Given the description of an element on the screen output the (x, y) to click on. 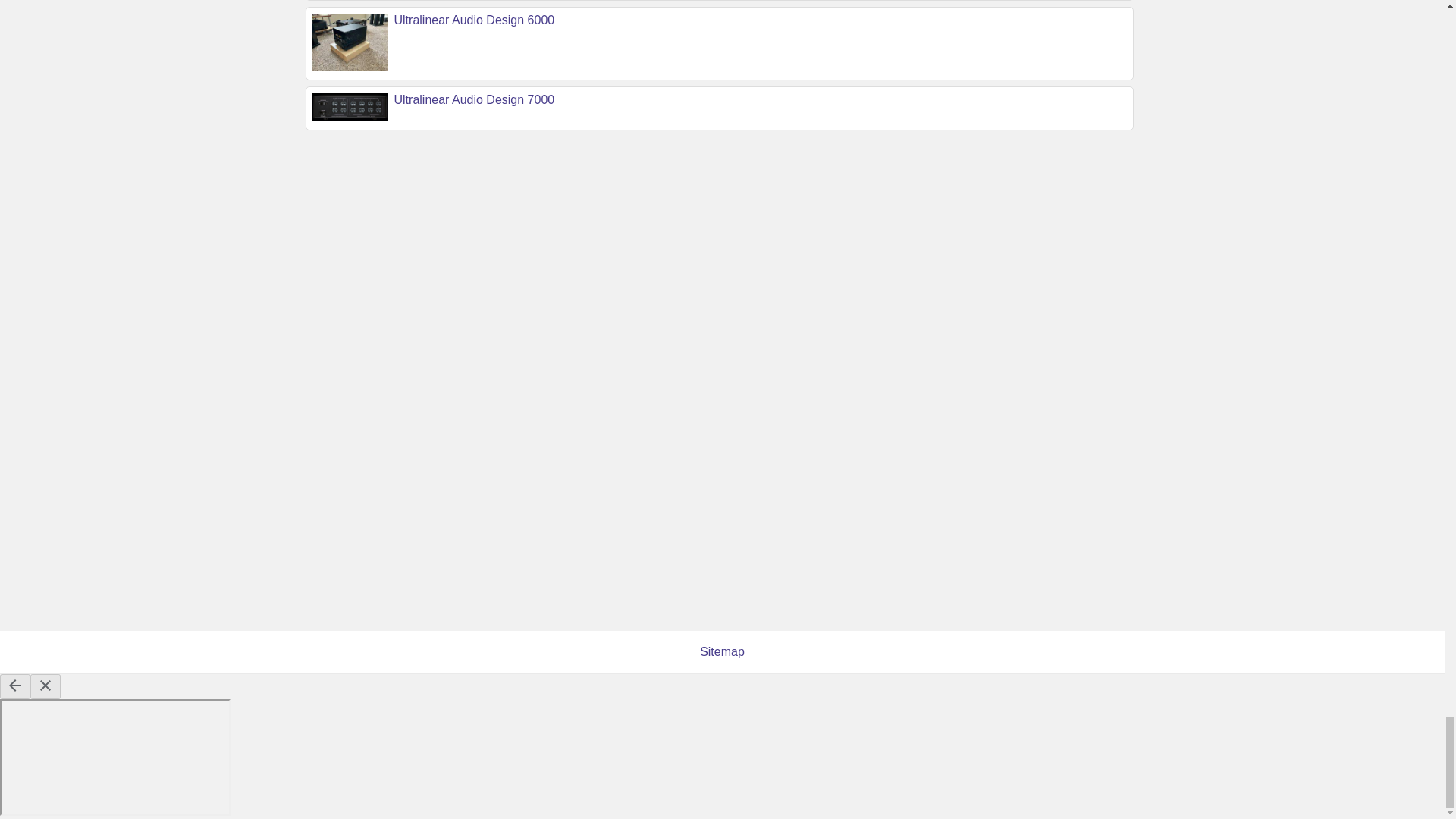
Ultralinear Audio Design 7000 (474, 99)
Ultralinear Audio Design 6000 (474, 19)
Sitemap (722, 651)
